Given the description of an element on the screen output the (x, y) to click on. 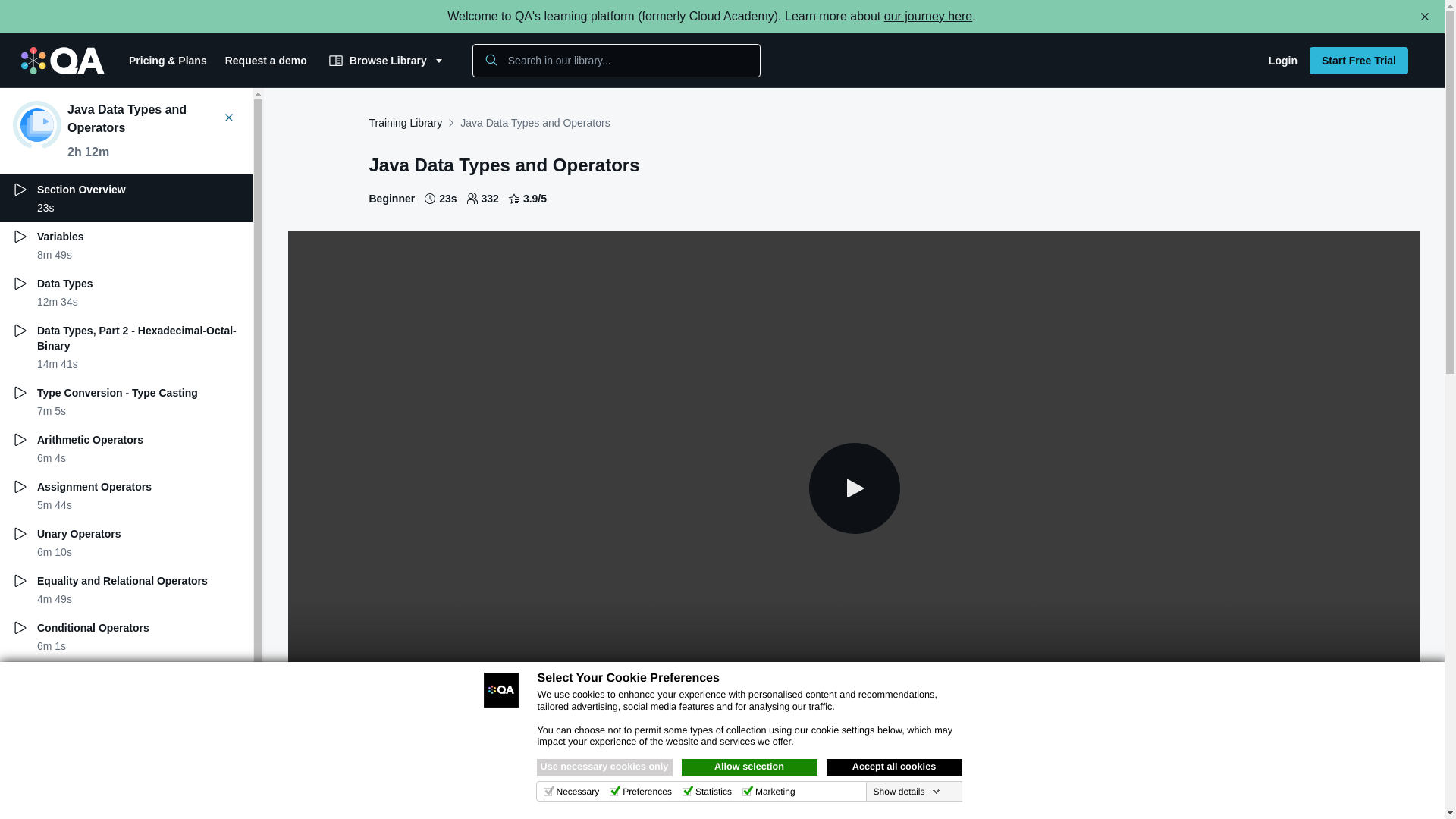
Use necessary cookies only (604, 767)
Accept all cookies (894, 767)
Show details (905, 791)
Allow selection (748, 767)
